Given the description of an element on the screen output the (x, y) to click on. 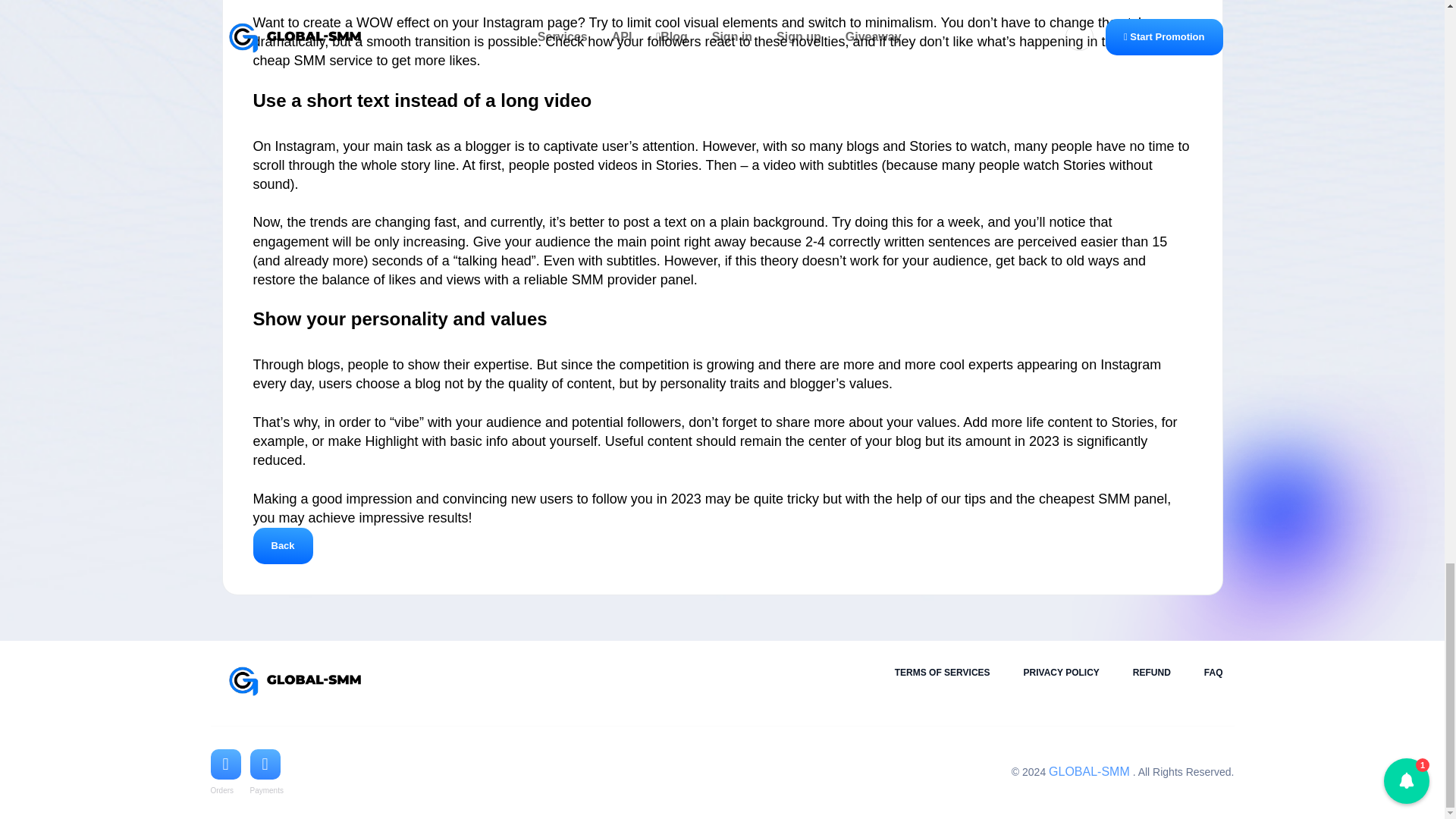
SMM provider panel (633, 279)
TERMS OF SERVICES (942, 672)
PRIVACY POLICY (1061, 672)
cheap SMM service (312, 60)
Back (283, 545)
GLOBAL-SMM (1088, 771)
FAQ (1213, 672)
REFUND (1151, 672)
